Given the description of an element on the screen output the (x, y) to click on. 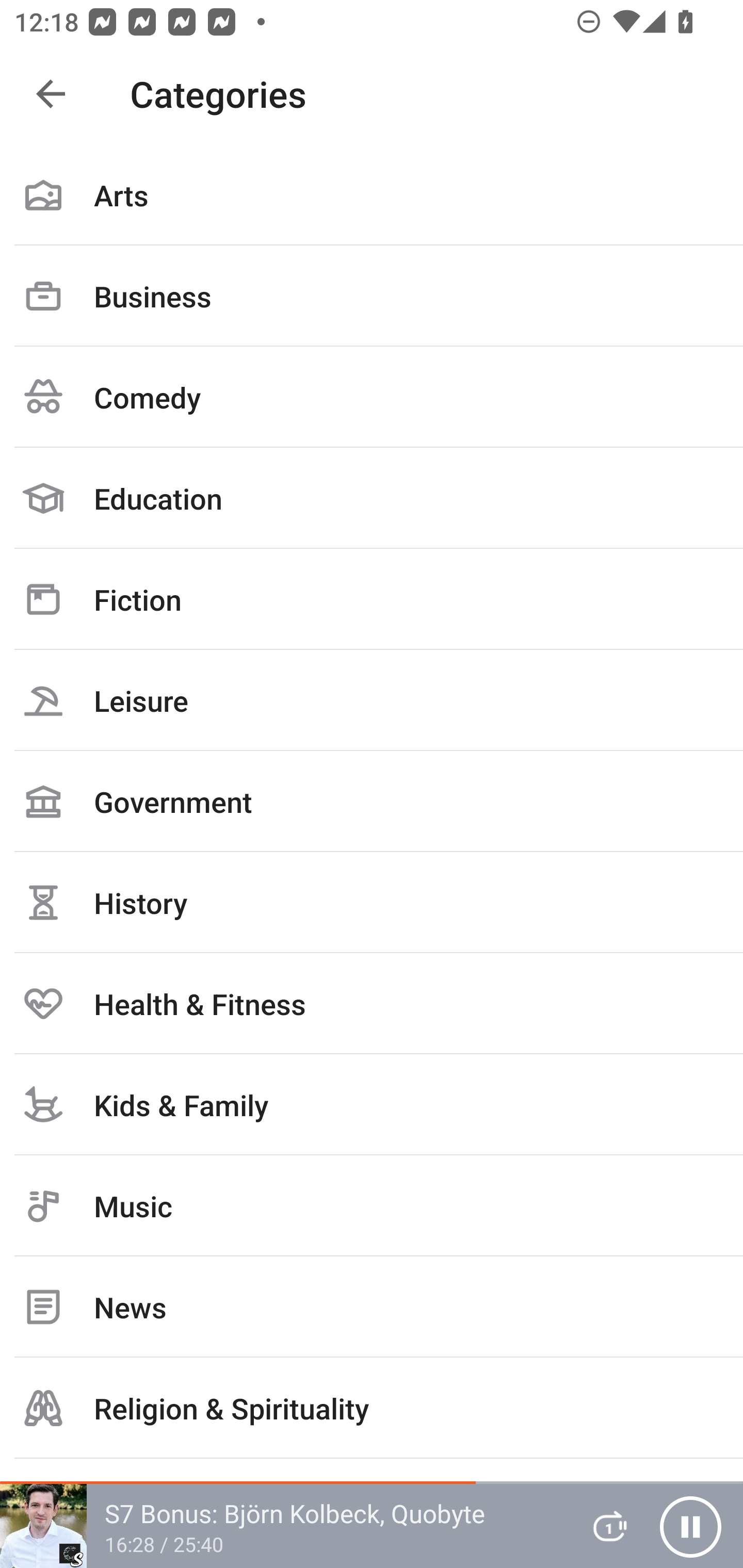
Navigate up (50, 93)
Arts (371, 195)
Business (371, 296)
Comedy (371, 397)
Education (371, 498)
Fiction (371, 598)
Leisure (371, 700)
Government (371, 801)
History (371, 902)
Health & Fitness (371, 1003)
Kids & Family (371, 1104)
Music (371, 1205)
News (371, 1306)
Religion & Spirituality (371, 1407)
S7 Bonus: Björn Kolbeck, Quobyte 16:28 / 25:40 (283, 1525)
Pause (690, 1526)
